Given the description of an element on the screen output the (x, y) to click on. 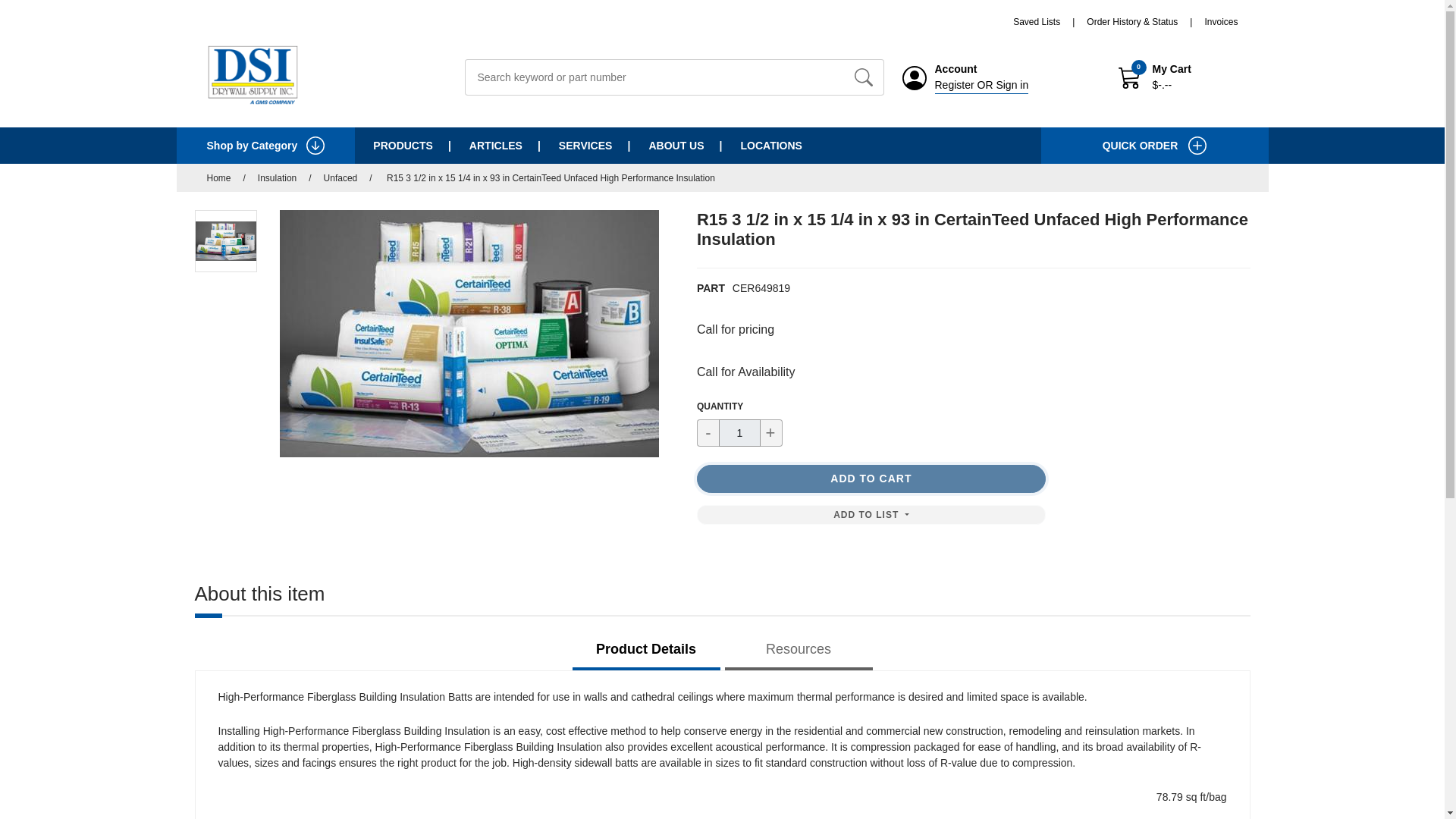
Shop by Category (265, 145)
Register OR Sign in (980, 85)
Invoices (1220, 21)
Saved Lists (1049, 21)
1 (739, 432)
